Given the description of an element on the screen output the (x, y) to click on. 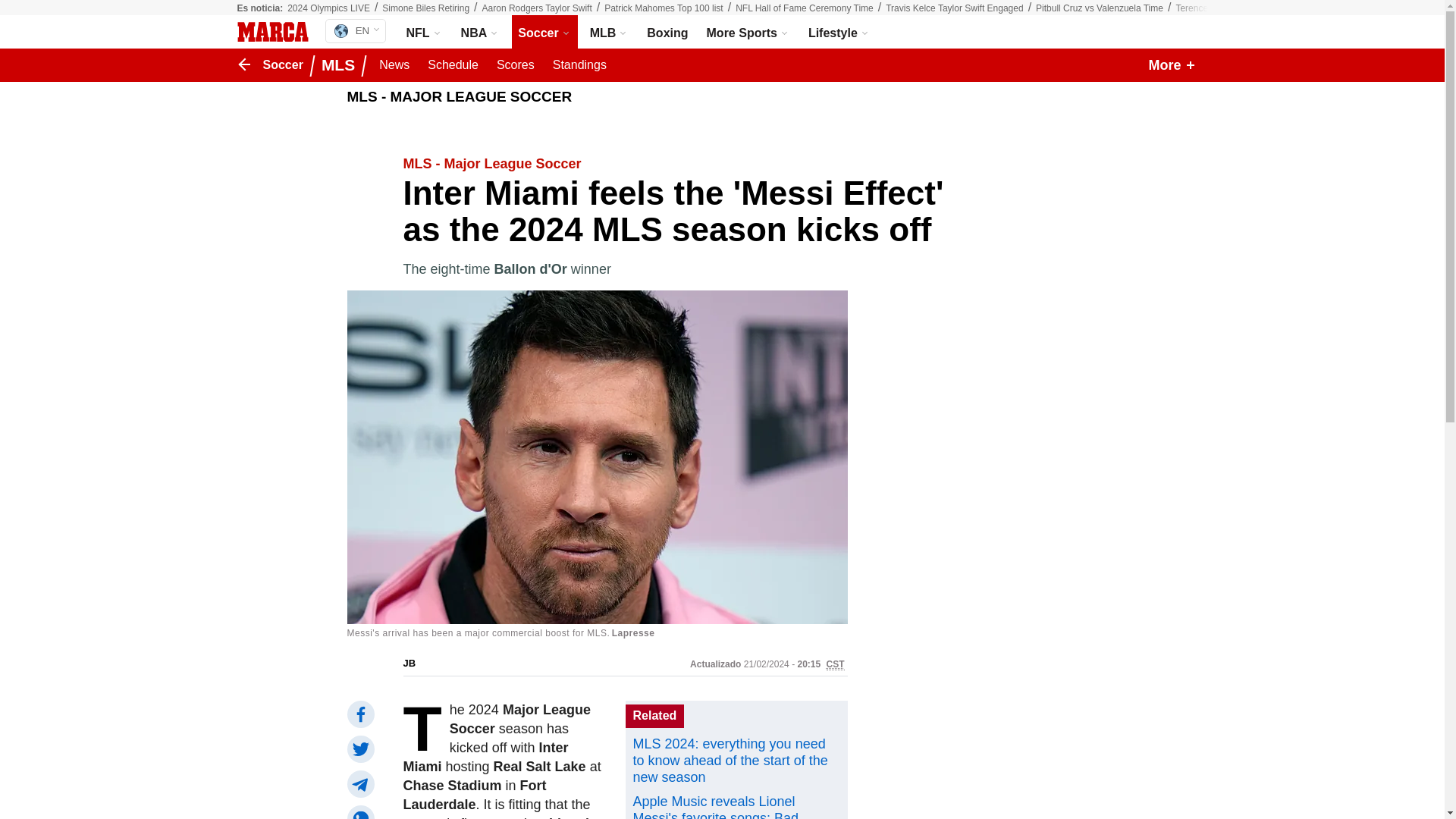
Pitbull Cruz vs Valenzuela Time (1099, 8)
Schedule (453, 64)
NFL Hall of Fame Ceremony Time (804, 8)
More Sports (748, 31)
News (393, 64)
MLB (608, 31)
NFL (424, 31)
Simone Biles Retiring (424, 8)
Central Standard Time (835, 664)
